Given the description of an element on the screen output the (x, y) to click on. 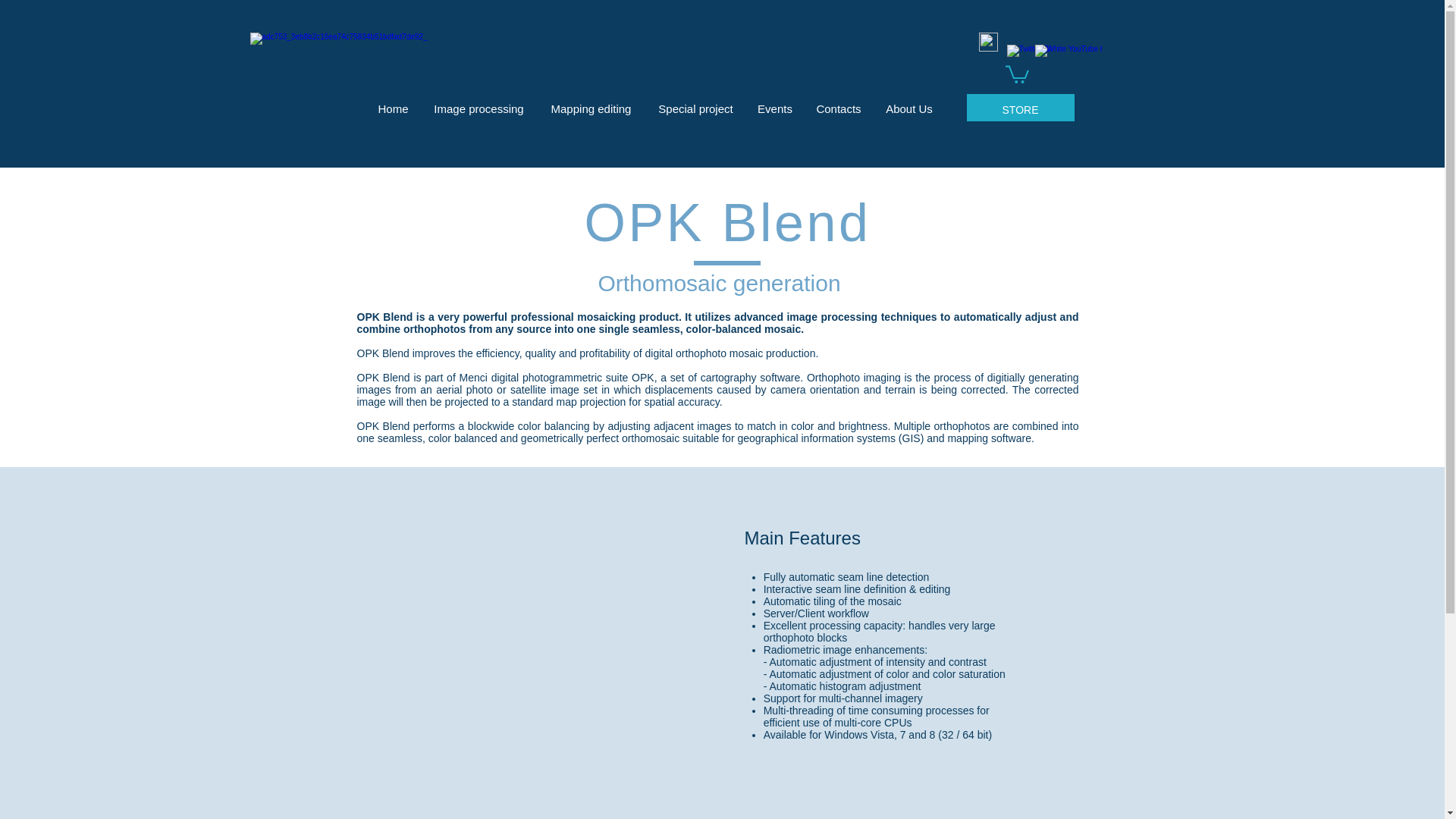
Events (775, 102)
STORE (1020, 105)
STORE (1020, 110)
Special project (695, 102)
Mapping editing (591, 102)
External YouTube (562, 659)
About Us (908, 102)
Home (393, 102)
Contacts (837, 102)
Image processing (479, 102)
